Given the description of an element on the screen output the (x, y) to click on. 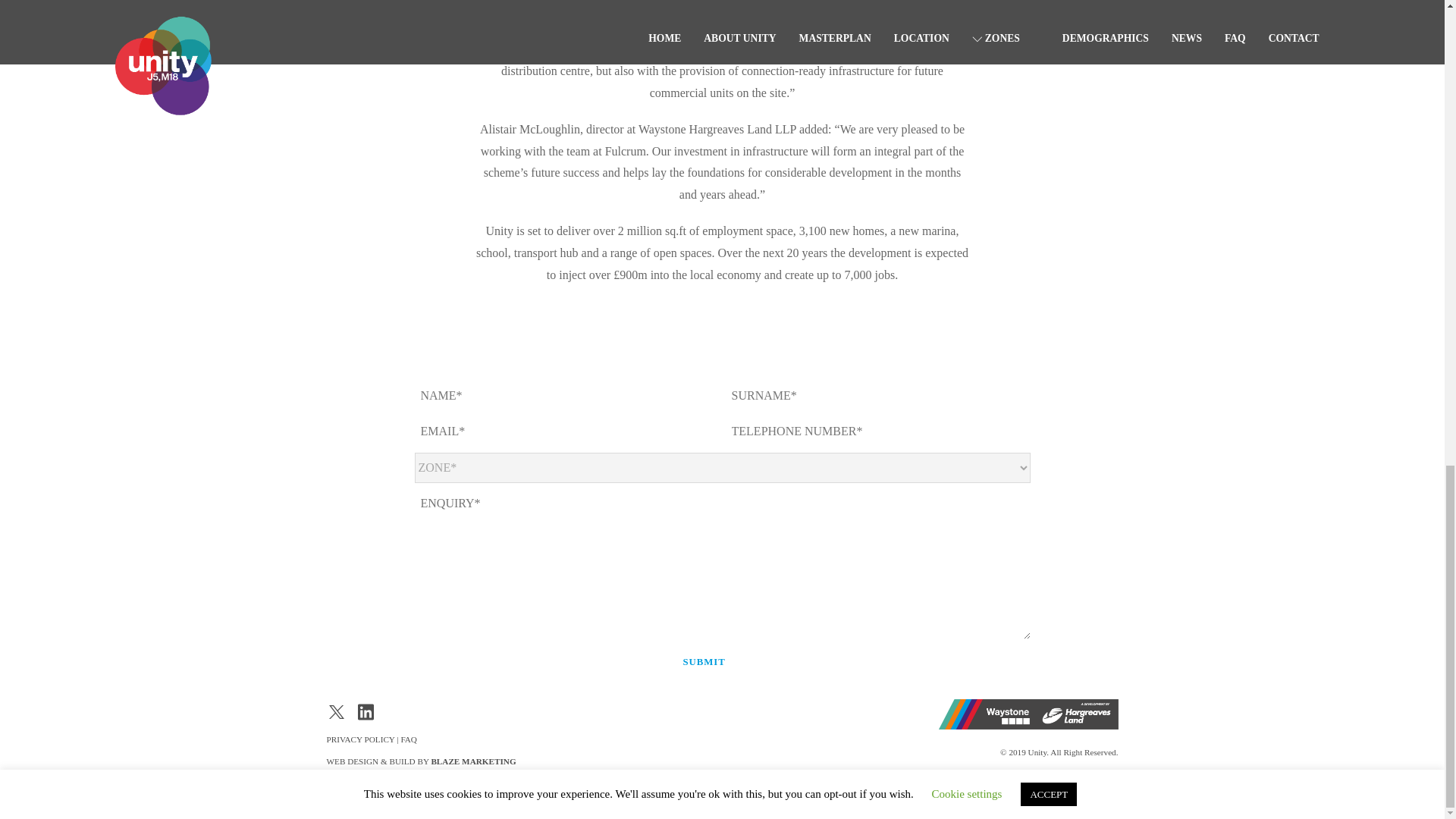
FAQ (408, 738)
SUBMIT (703, 662)
PRIVACY POLICY (360, 738)
TwitterXGrey (336, 711)
BLAZE MARKETING (472, 760)
SUBMIT (703, 662)
